Given the description of an element on the screen output the (x, y) to click on. 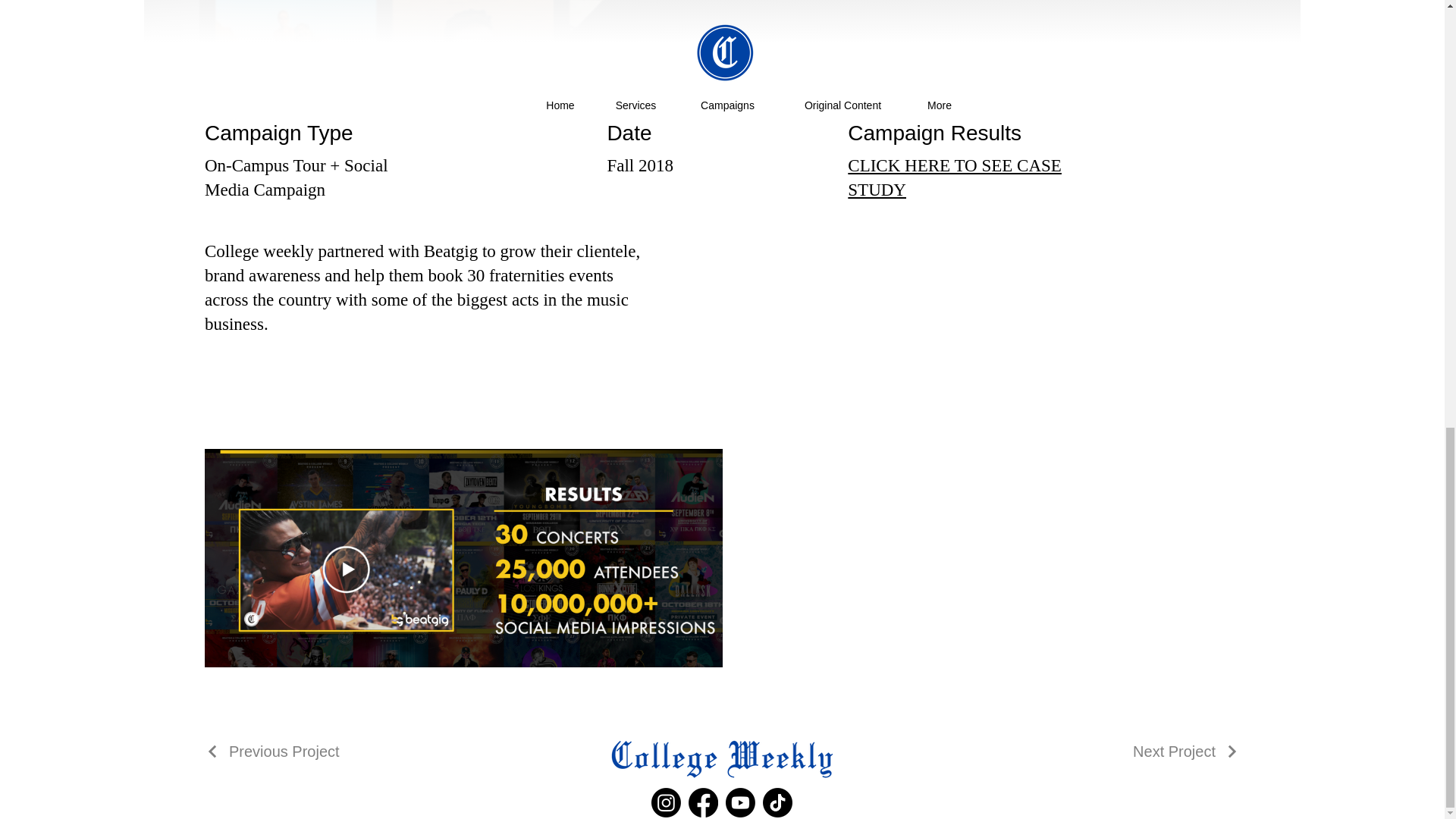
CLICK HERE TO SEE CASE STUDY (954, 177)
Next Project (1186, 751)
Previous Project (272, 751)
